Given the description of an element on the screen output the (x, y) to click on. 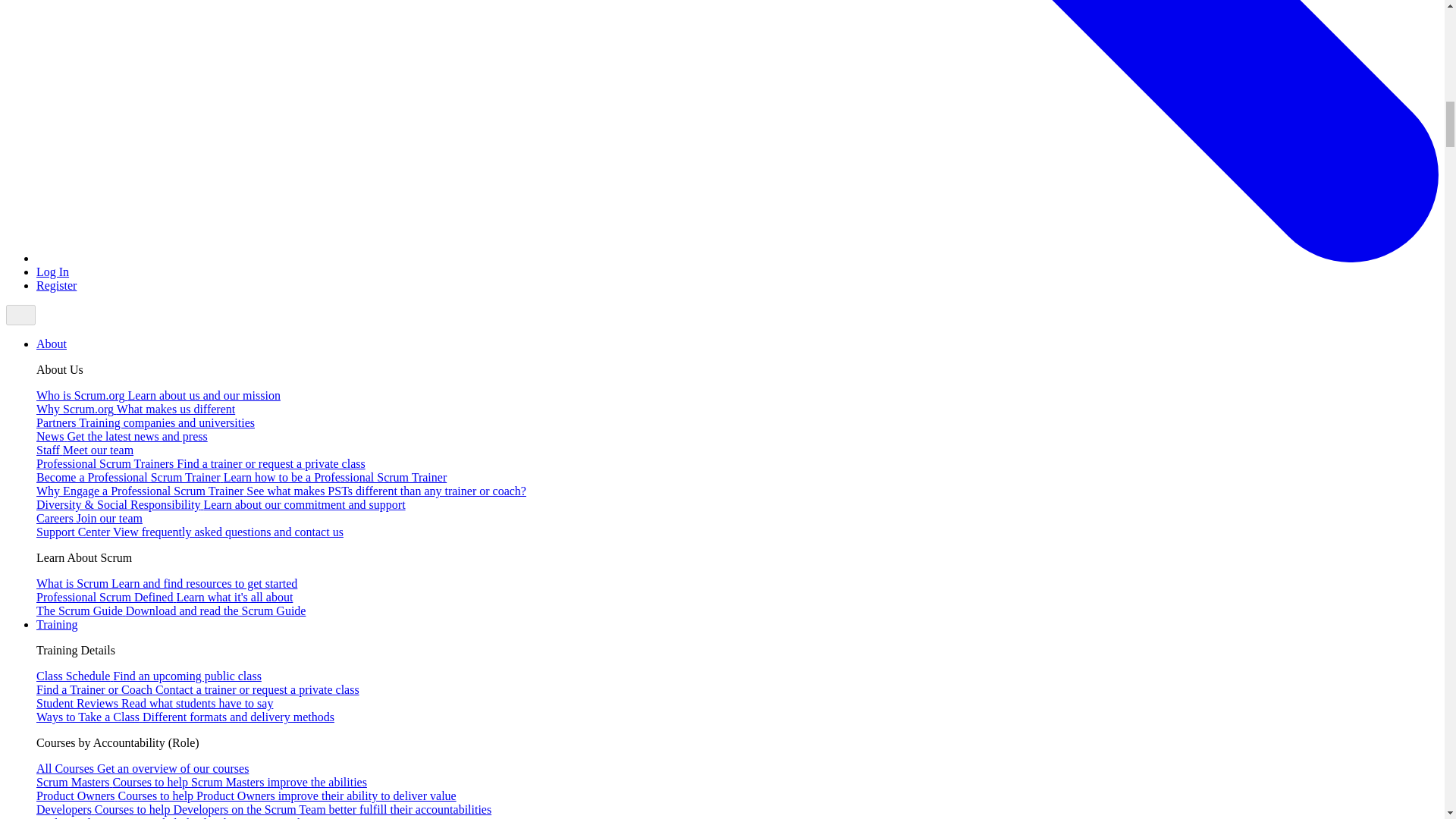
Staff Meet our team (84, 449)
Professional Scrum Defined Learn what it's all about (164, 596)
Training (57, 624)
Who is Scrum.org Learn about us and our mission (158, 395)
The Scrum Guide Download and read the Scrum Guide (170, 610)
About (51, 343)
Register (56, 285)
